Given the description of an element on the screen output the (x, y) to click on. 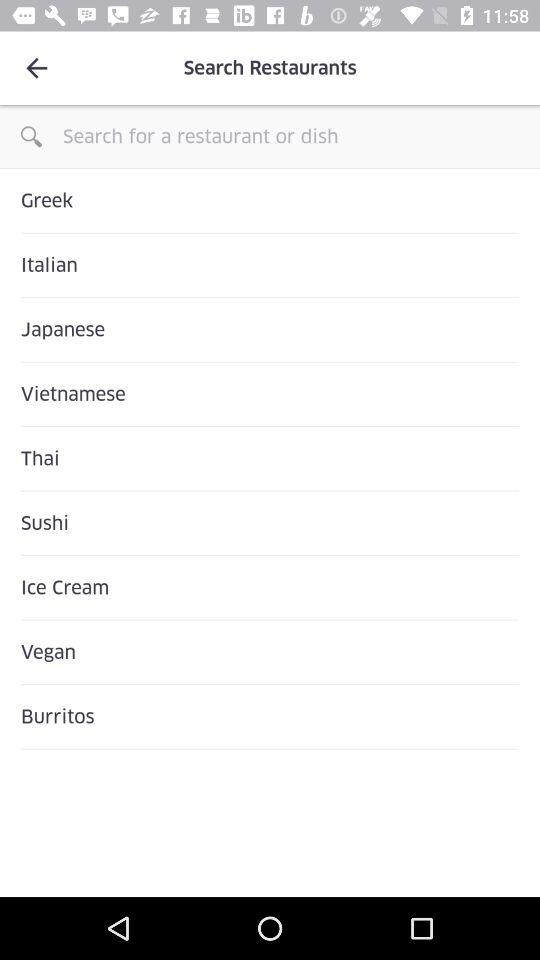
choose the icon next to search restaurants (36, 68)
